Given the description of an element on the screen output the (x, y) to click on. 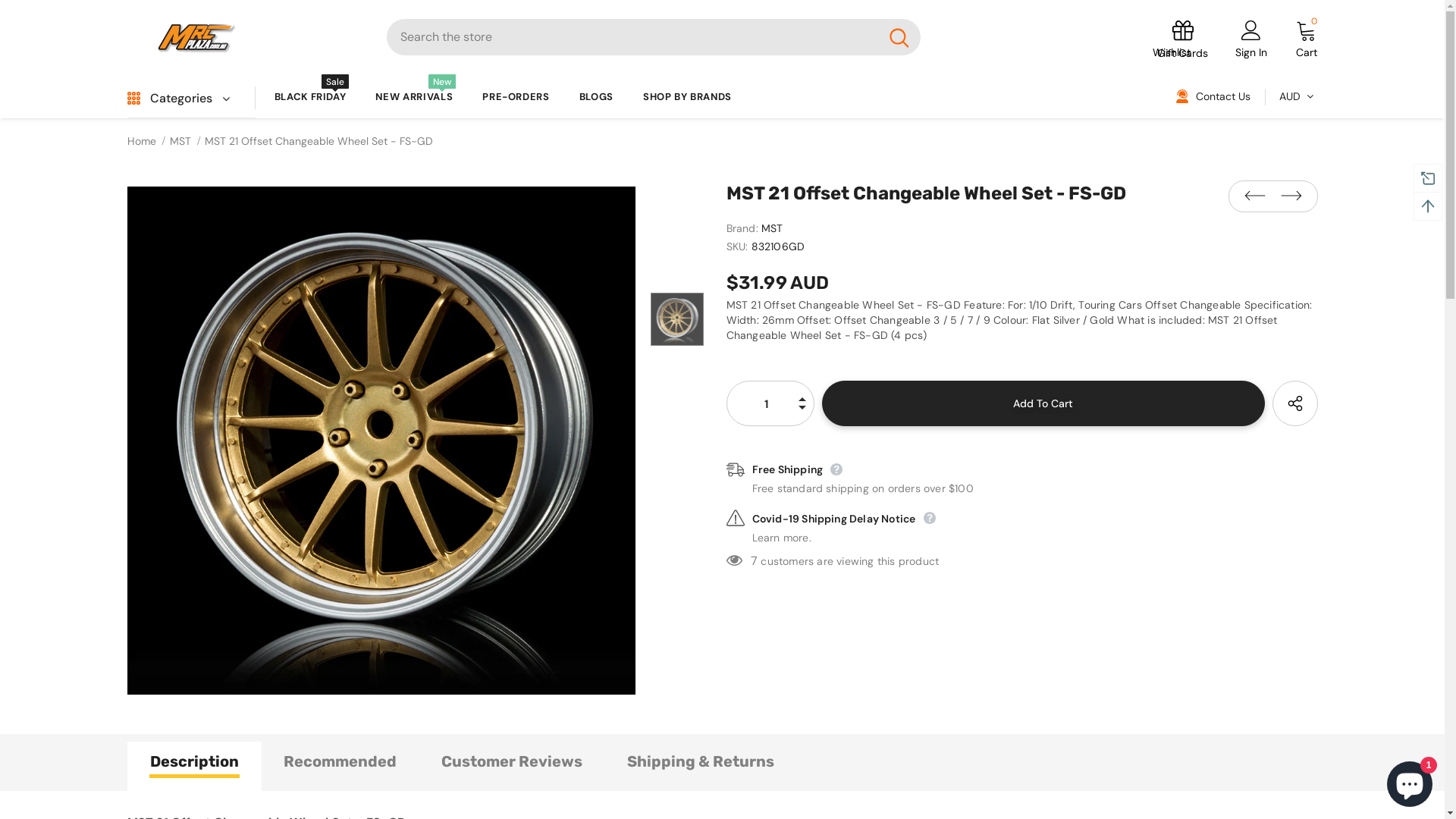
Customer Reviews Element type: text (511, 765)
SHOP BY BRANDS Element type: text (687, 95)
Shipping & Returns Element type: text (699, 765)
MST Element type: text (180, 140)
BLOGS Element type: text (596, 95)
NEW ARRIVALS
New Element type: text (413, 95)
Gift Cards Element type: text (1182, 39)
Recommended Element type: text (339, 765)
Contact Us Element type: text (1212, 97)
Add to cart Element type: text (1043, 403)
Description Element type: text (194, 765)
Sign In Element type: text (1251, 52)
0
Cart Element type: text (1306, 40)
Shopify online store chat Element type: hover (1409, 780)
MST Element type: text (772, 228)
Logo Element type: hover (245, 36)
Home Element type: text (141, 140)
PRE-ORDERS Element type: text (515, 95)
User Icon Element type: hover (1250, 29)
BLACK FRIDAY
Sale Element type: text (310, 95)
